Given the description of an element on the screen output the (x, y) to click on. 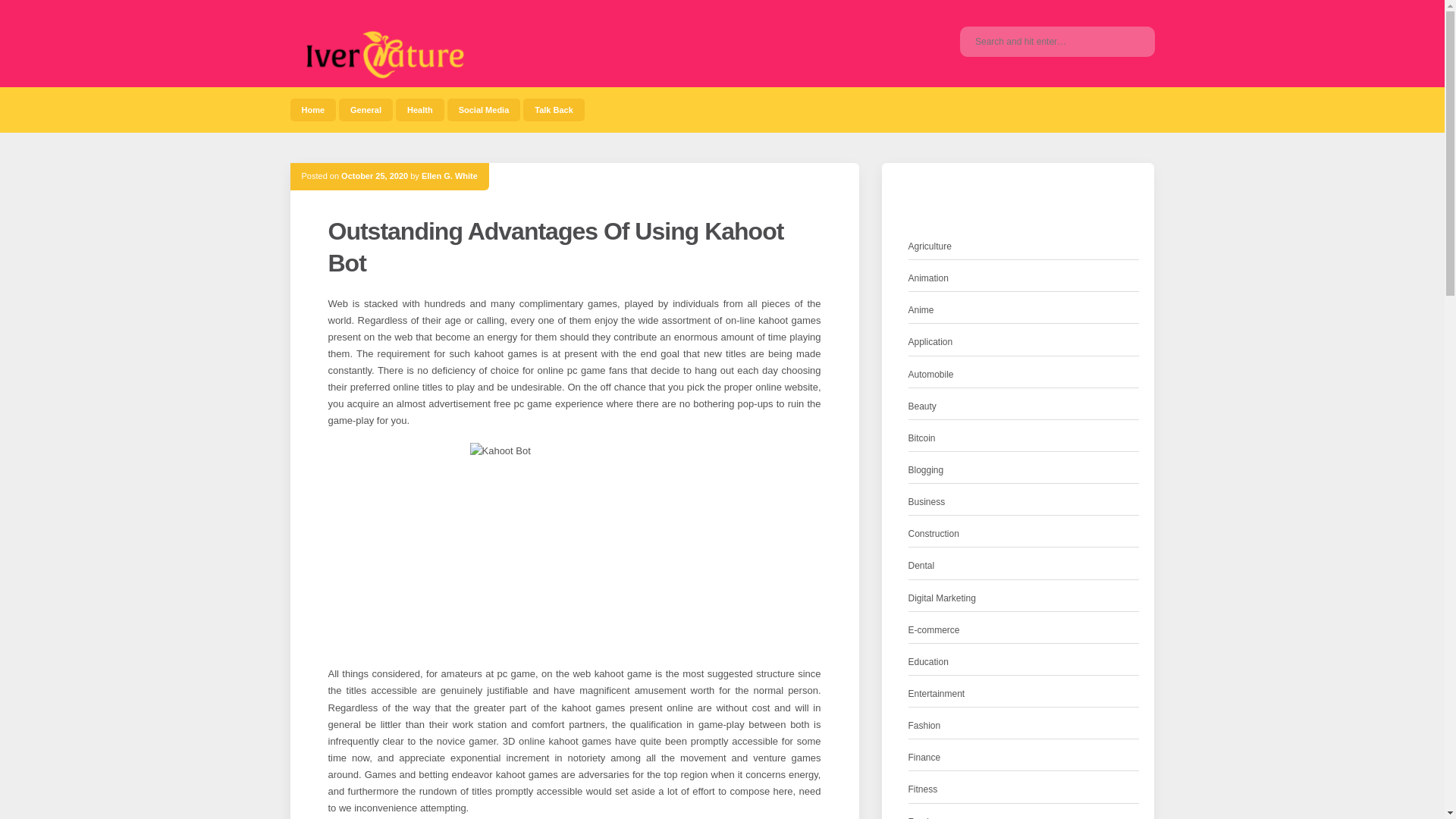
Education (928, 662)
Foods (920, 816)
Beauty (922, 406)
Fitness (922, 789)
General (366, 109)
Application (930, 342)
Anime (921, 310)
Social Media (483, 109)
Health (420, 109)
Business (926, 502)
